Given the description of an element on the screen output the (x, y) to click on. 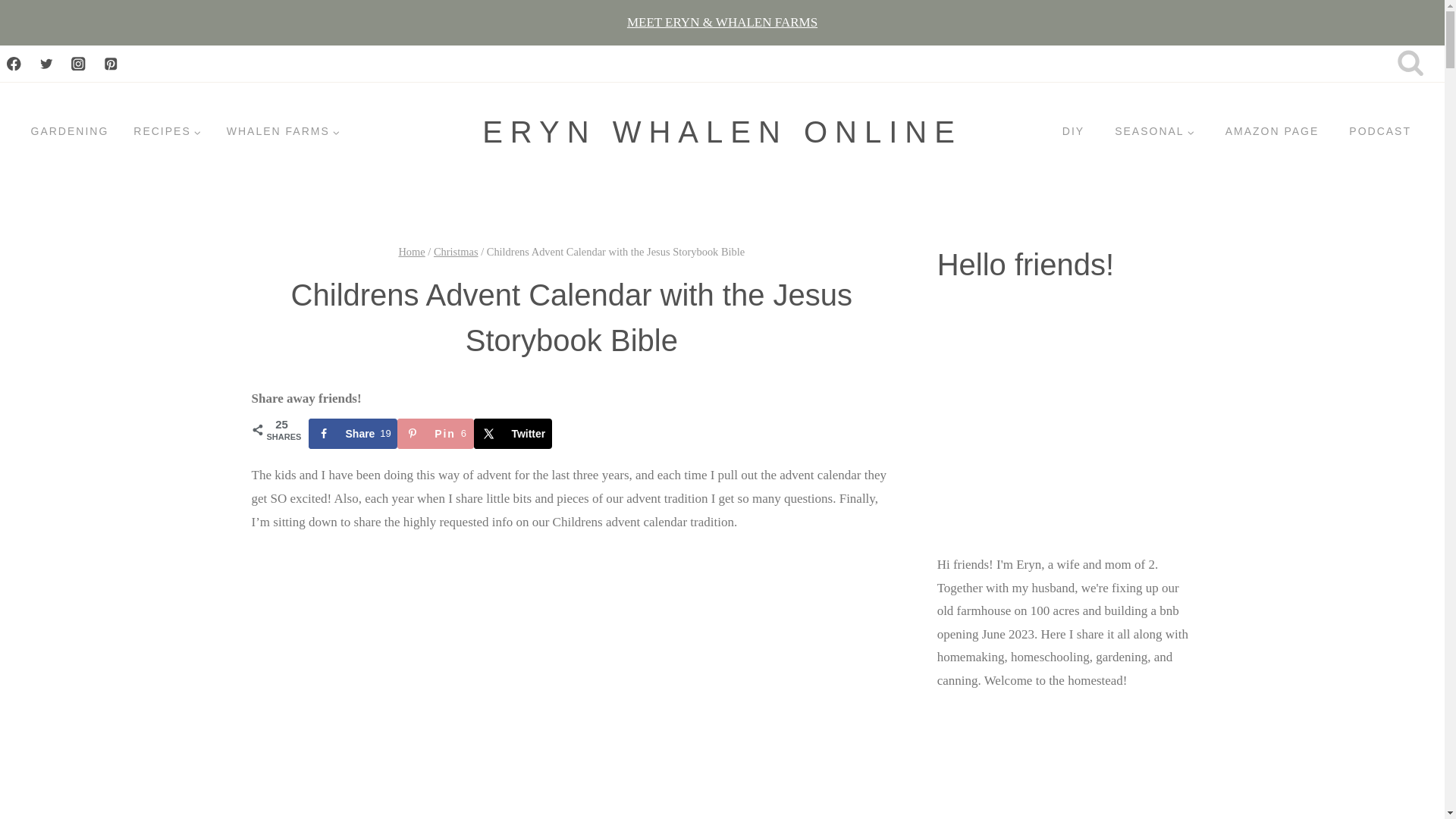
AMAZON PAGE (1272, 132)
WHALEN FARMS (283, 132)
GARDENING (68, 132)
RECIPES (167, 132)
Share on Facebook (352, 433)
Share on X (512, 433)
Save to Pinterest (435, 433)
Force of Nature (1065, 765)
DIY (1072, 132)
SEASONAL (1154, 132)
ERYN WHALEN ONLINE (721, 131)
PODCAST (1379, 132)
